Given the description of an element on the screen output the (x, y) to click on. 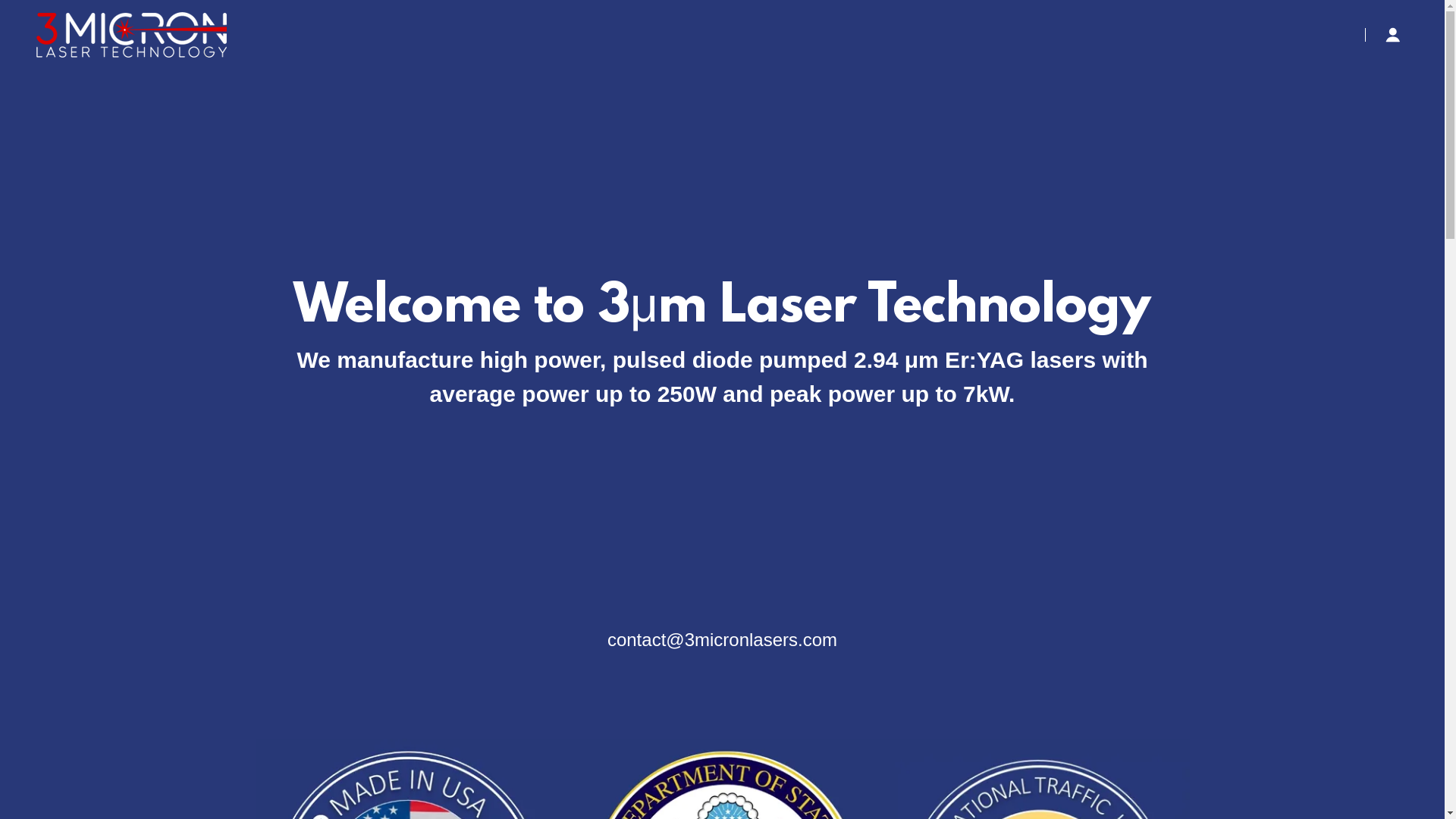
contact@3micronlasers.com Element type: text (722, 639)
